Given the description of an element on the screen output the (x, y) to click on. 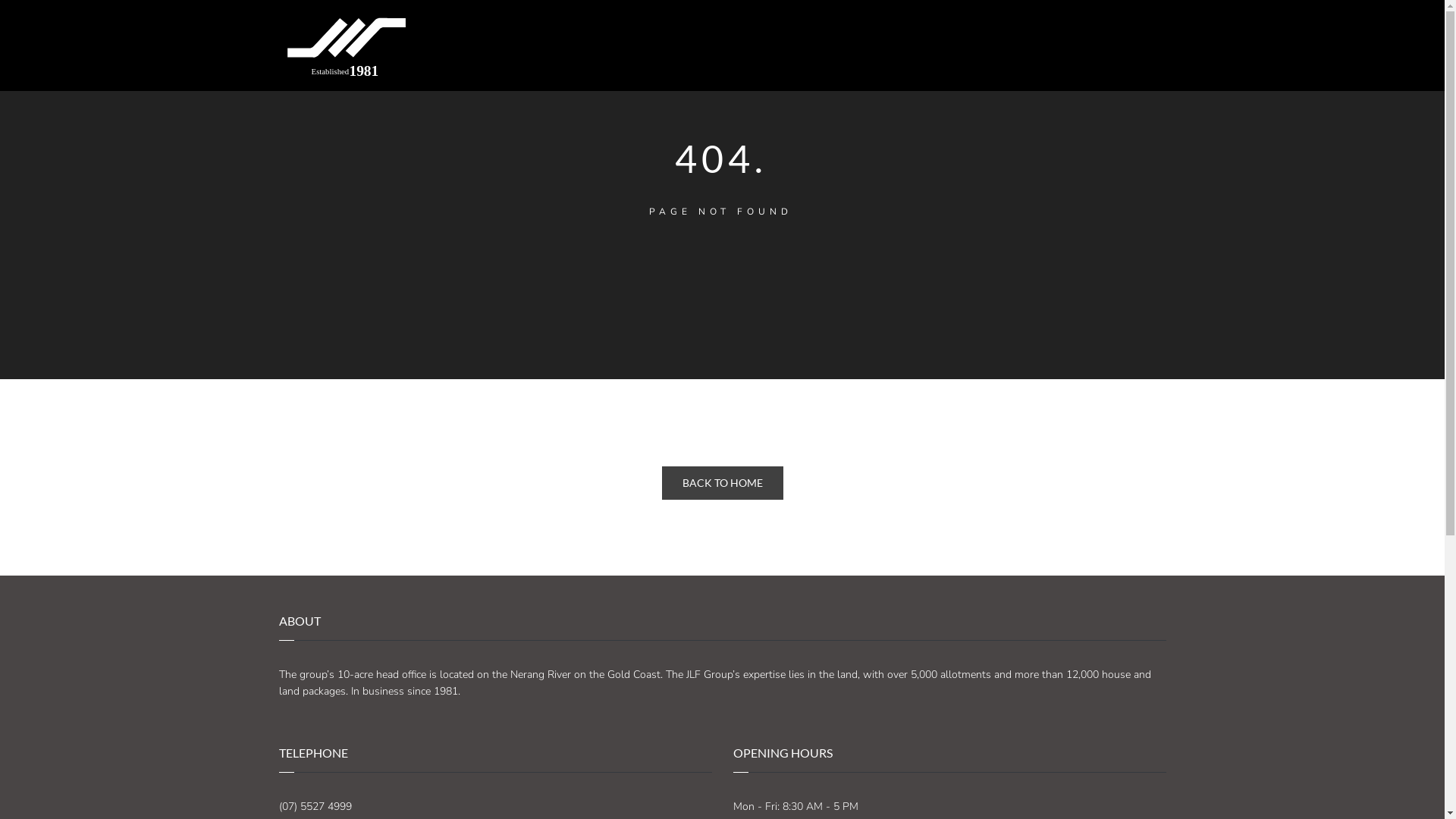
(07) 5527 4999 Element type: text (315, 806)
BACK TO HOME Element type: text (721, 482)
